Given the description of an element on the screen output the (x, y) to click on. 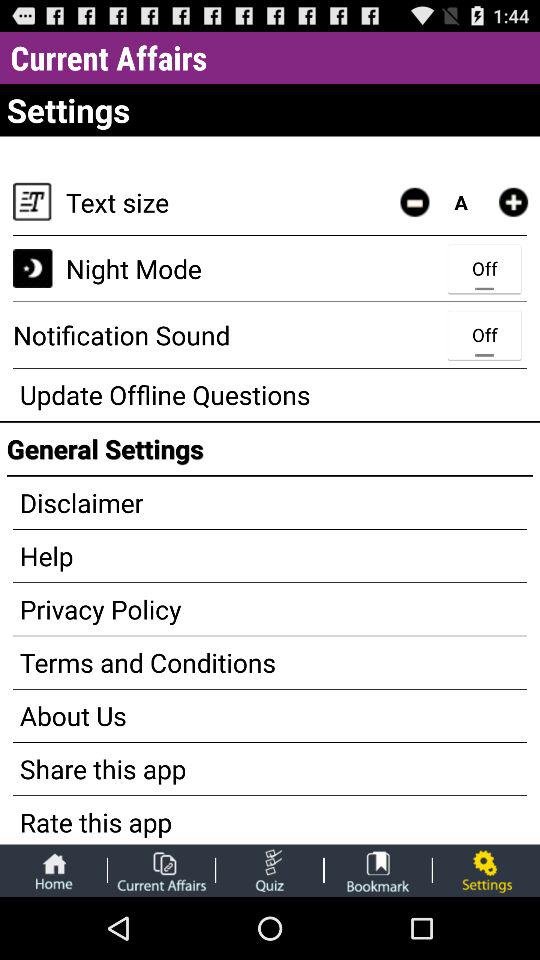
click the about us (270, 715)
